Given the description of an element on the screen output the (x, y) to click on. 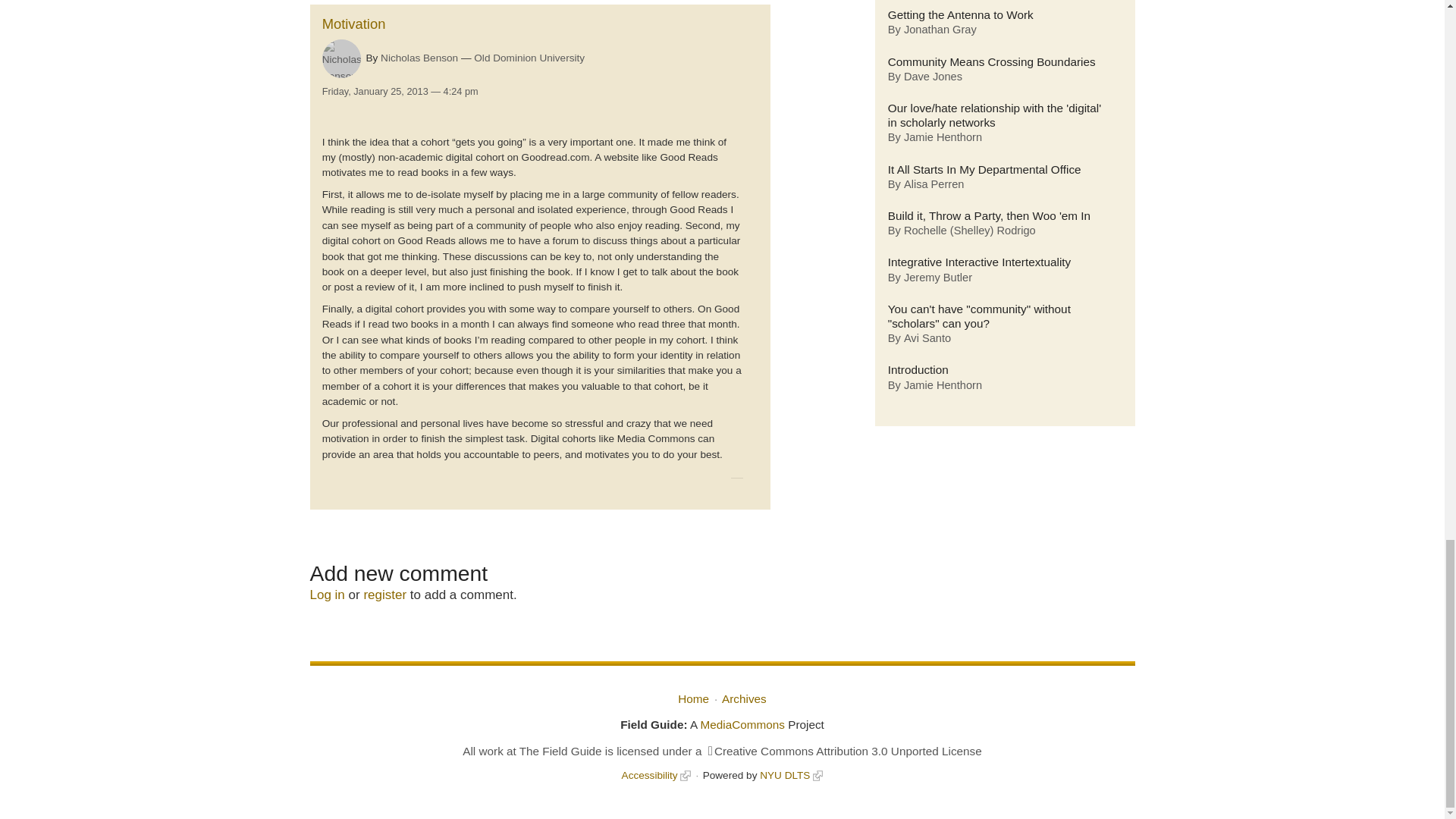
Nicholas Benson (419, 57)
Motivation (353, 23)
Old Dominion University (529, 57)
User profile: Nicholas Benson (419, 57)
Log in (325, 594)
Old Dominion University (529, 57)
register (384, 594)
View user profile. (341, 58)
